Given the description of an element on the screen output the (x, y) to click on. 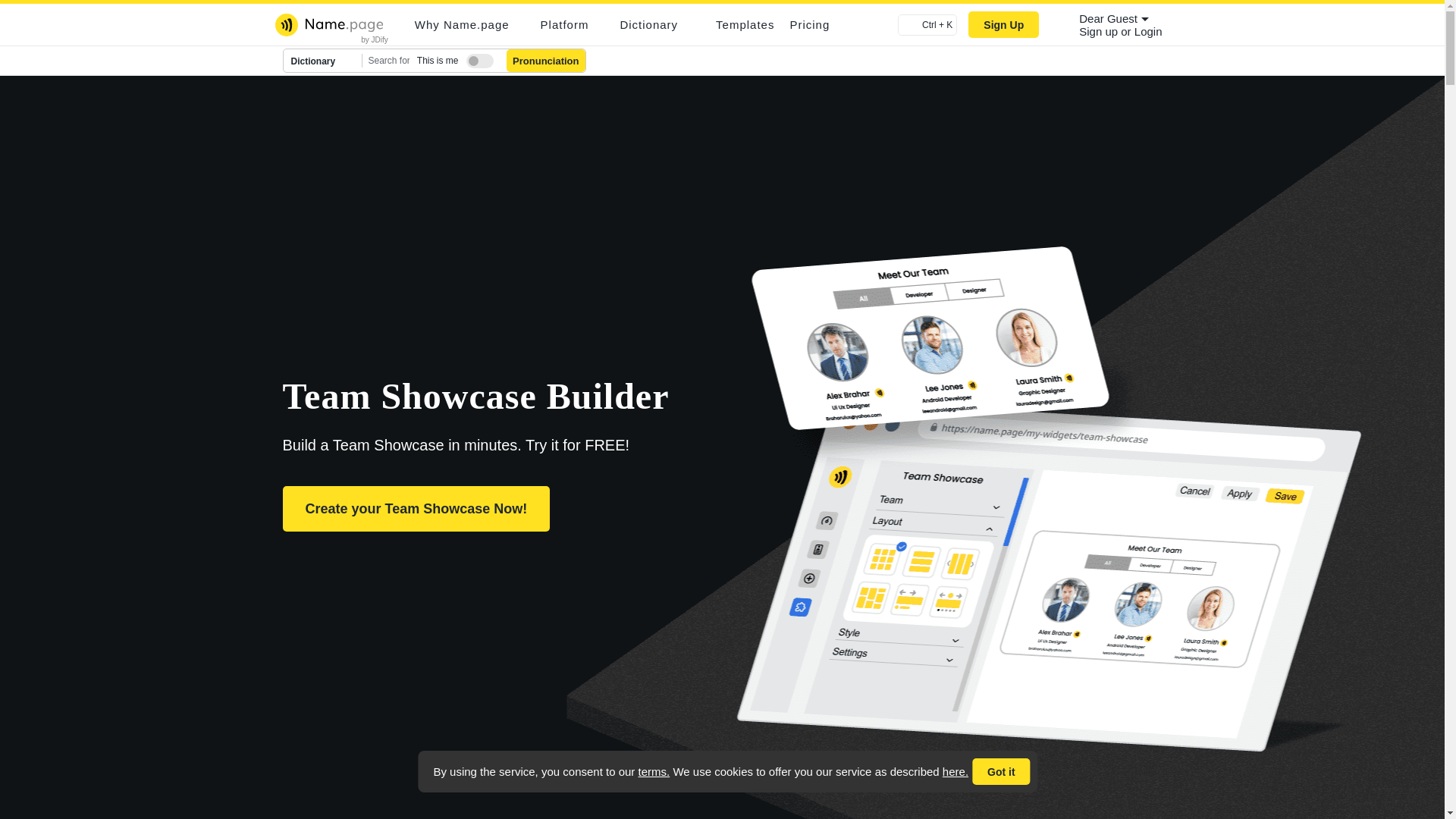
Sign-up it's free and takes just 2 minutes (1099, 31)
Dictionary (322, 60)
Pricing (809, 24)
Search name pronunciation (545, 60)
Login (1147, 31)
Sign up (1099, 31)
Is this your name? (476, 58)
Sign Up (1003, 24)
Sign in to your account (1147, 31)
by JDify (374, 39)
Templates (745, 24)
Pronunciation (545, 60)
